Given the description of an element on the screen output the (x, y) to click on. 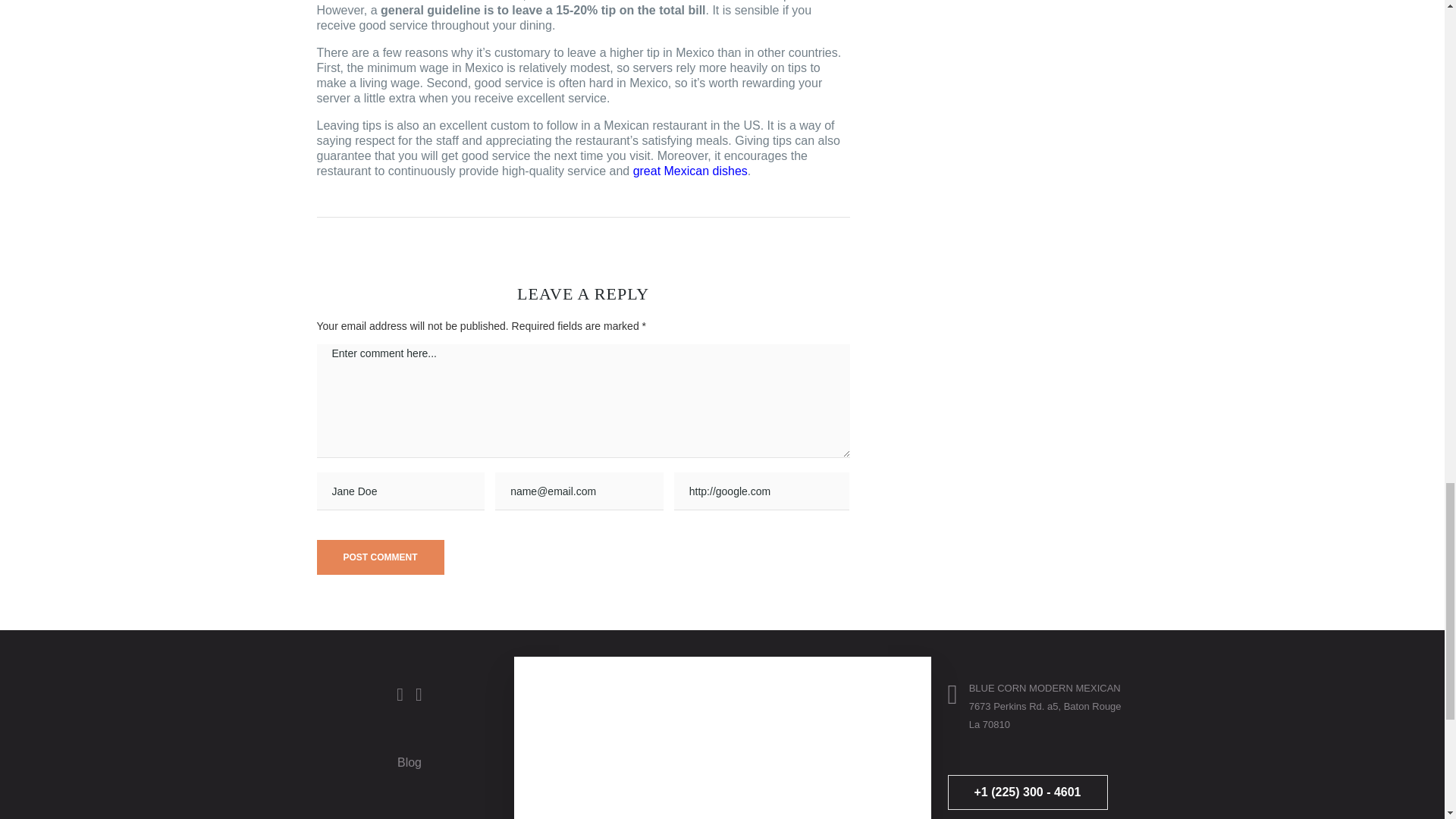
Blog (409, 762)
great Mexican dishes (690, 170)
Post Comment (380, 556)
Post Comment (380, 556)
